Given the description of an element on the screen output the (x, y) to click on. 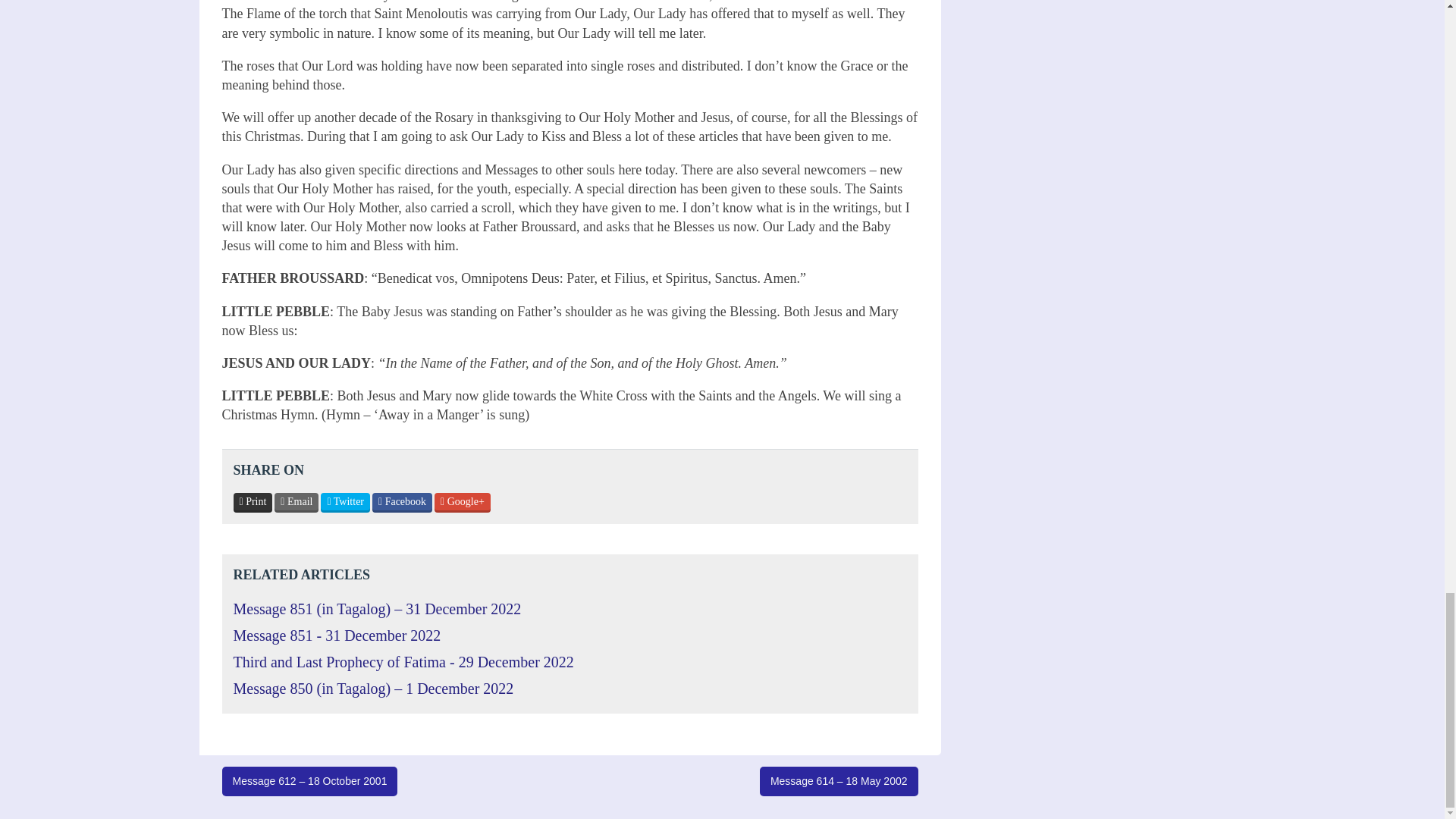
Share on Facebook (402, 502)
Share via Email (296, 502)
Share on Twitter (344, 502)
Print Article (252, 502)
